Given the description of an element on the screen output the (x, y) to click on. 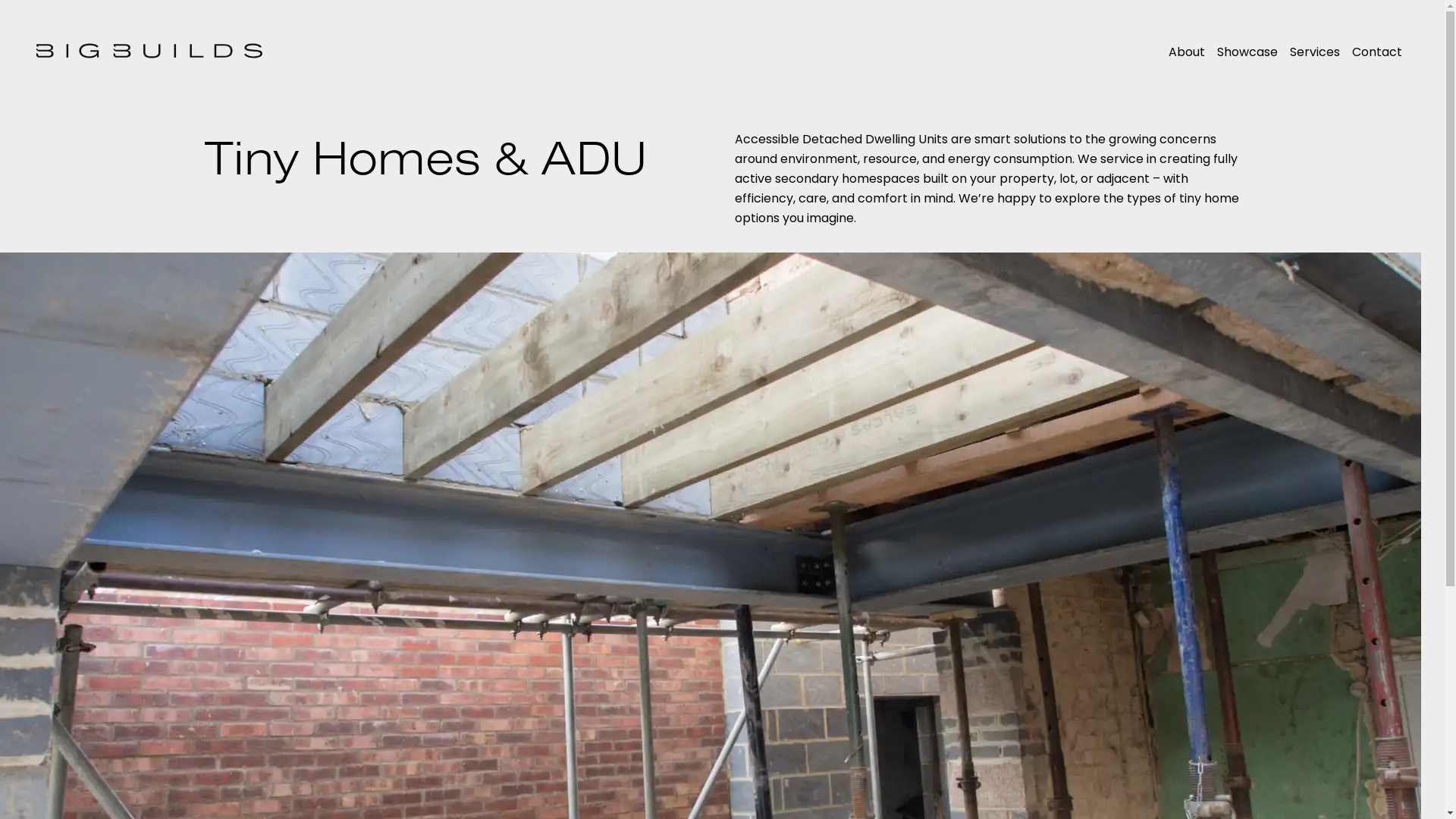
About Element type: text (1186, 51)
Contact Element type: text (1377, 51)
Showcase Element type: text (1247, 51)
Services Element type: text (1314, 51)
